Given the description of an element on the screen output the (x, y) to click on. 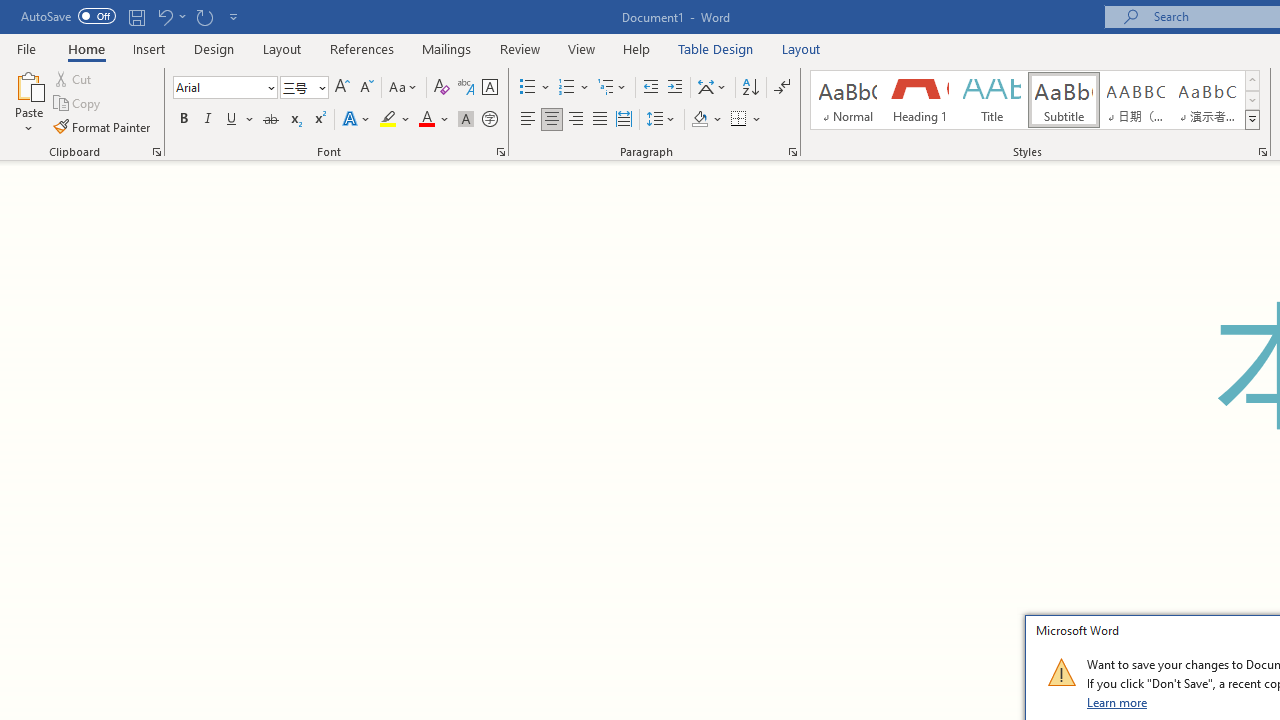
Subtitle (1063, 100)
Title (991, 100)
